Given the description of an element on the screen output the (x, y) to click on. 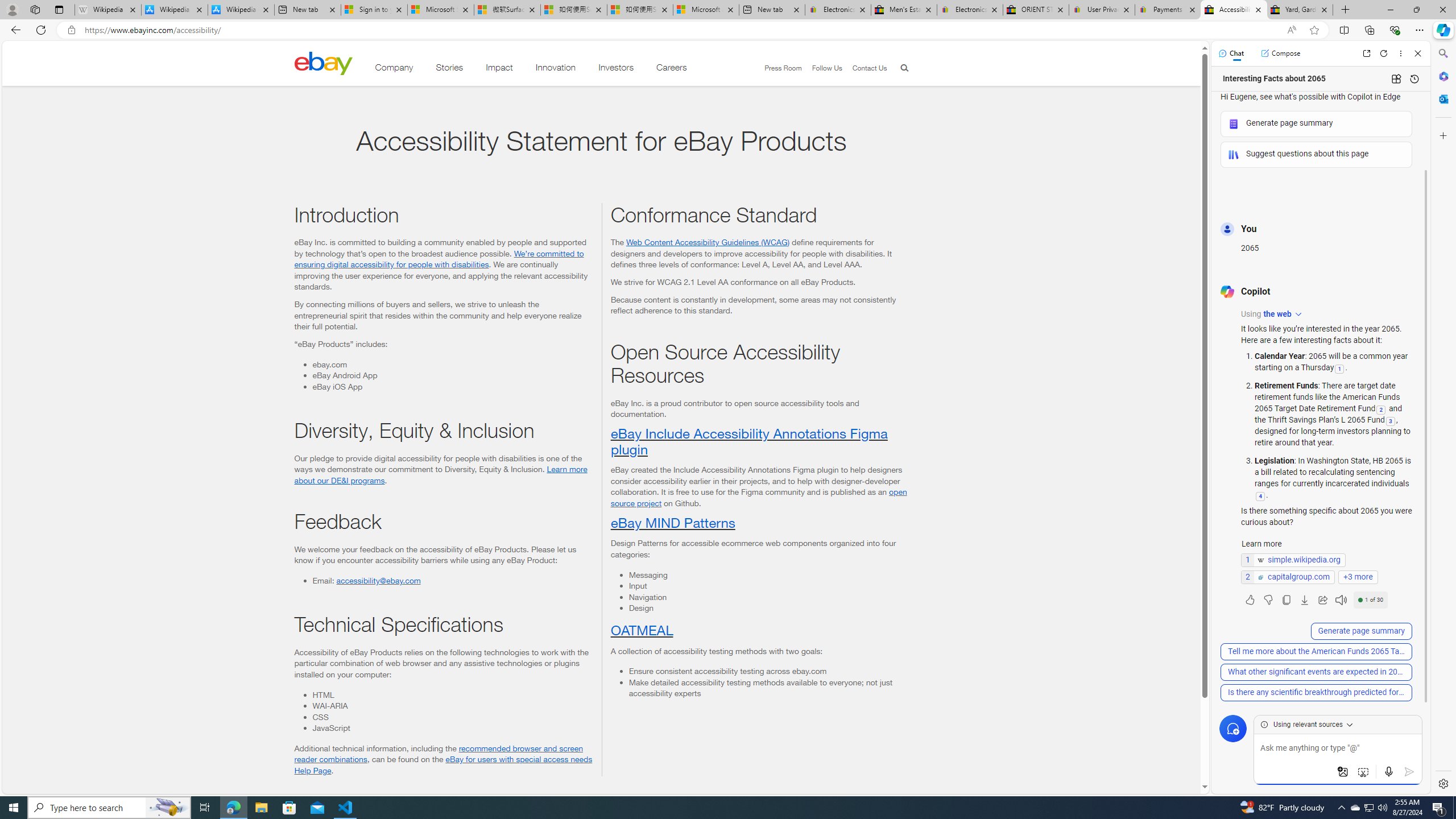
Innovation (555, 69)
CSS (451, 716)
Investors (616, 69)
open source project (758, 496)
Company (393, 69)
Follow Us (826, 67)
Contact Us (863, 68)
Design (768, 607)
